Given the description of an element on the screen output the (x, y) to click on. 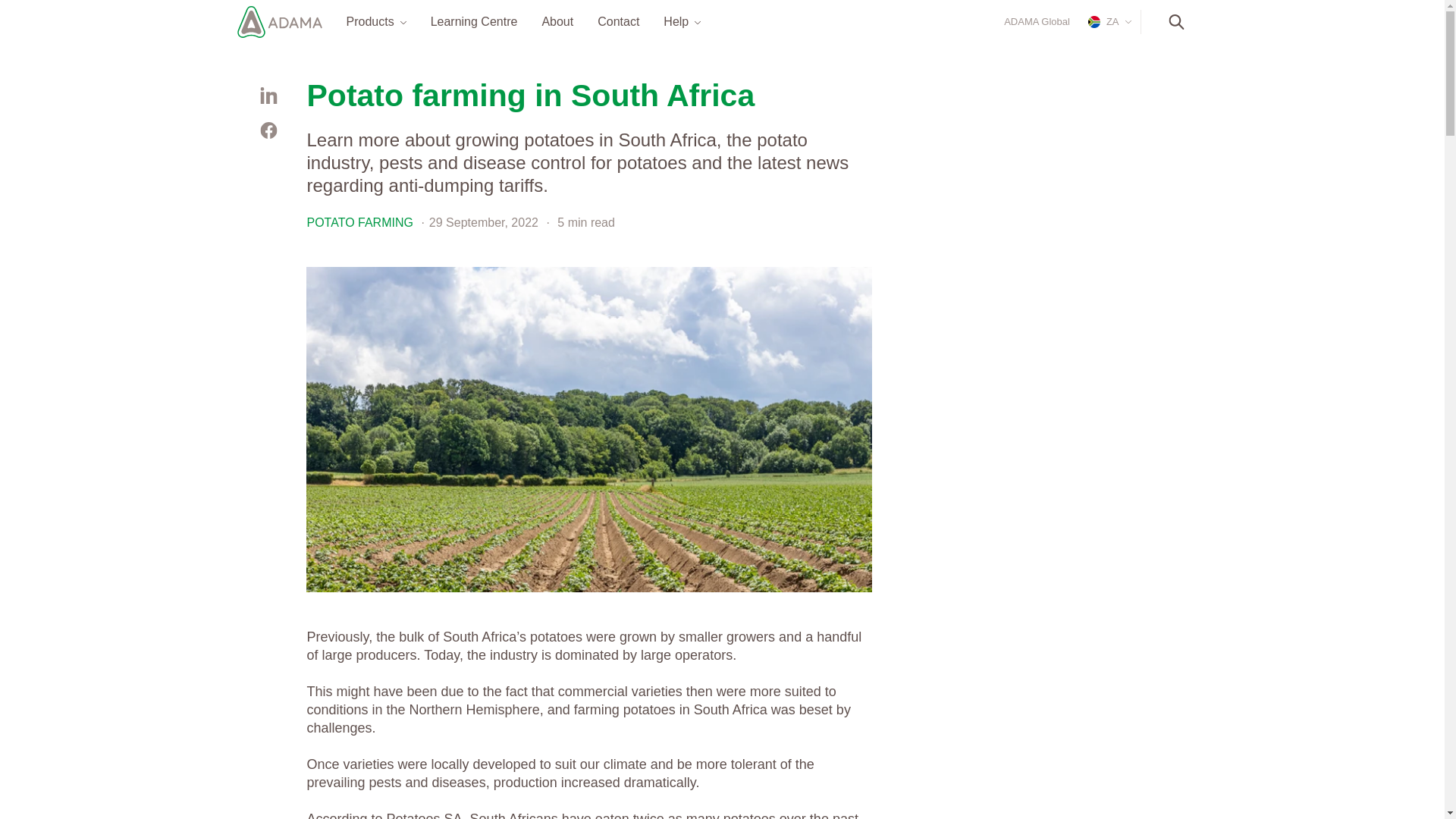
ADAMA's learning centre (474, 21)
About (557, 21)
Learning Centre (474, 21)
Contact (617, 21)
ZA (1106, 21)
ADAMA Global (1037, 21)
